Given the description of an element on the screen output the (x, y) to click on. 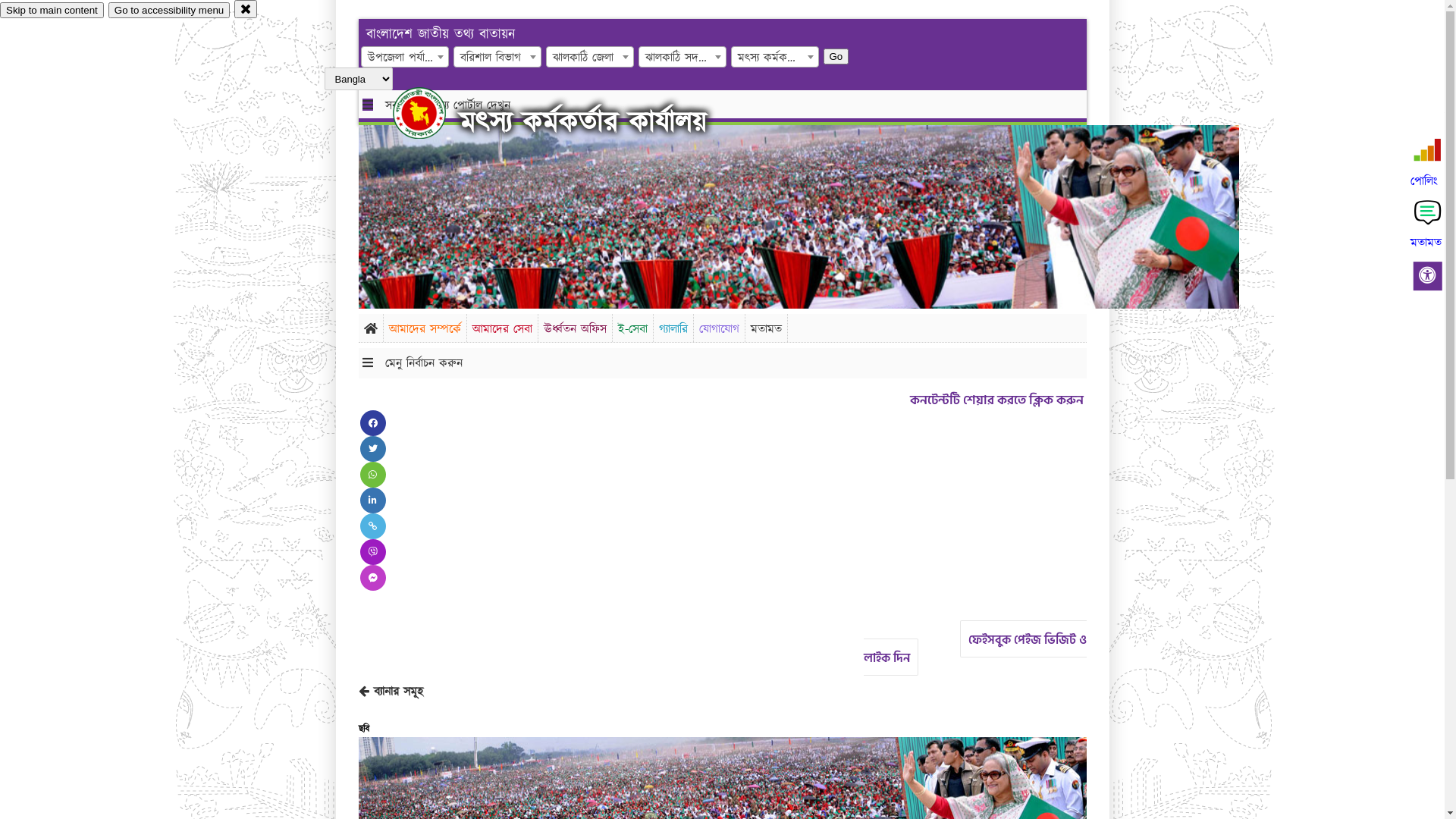
Skip to main content Element type: text (51, 10)

                
             Element type: hover (431, 112)
Go to accessibility menu Element type: text (168, 10)
Go Element type: text (836, 56)
close Element type: hover (245, 9)
